Given the description of an element on the screen output the (x, y) to click on. 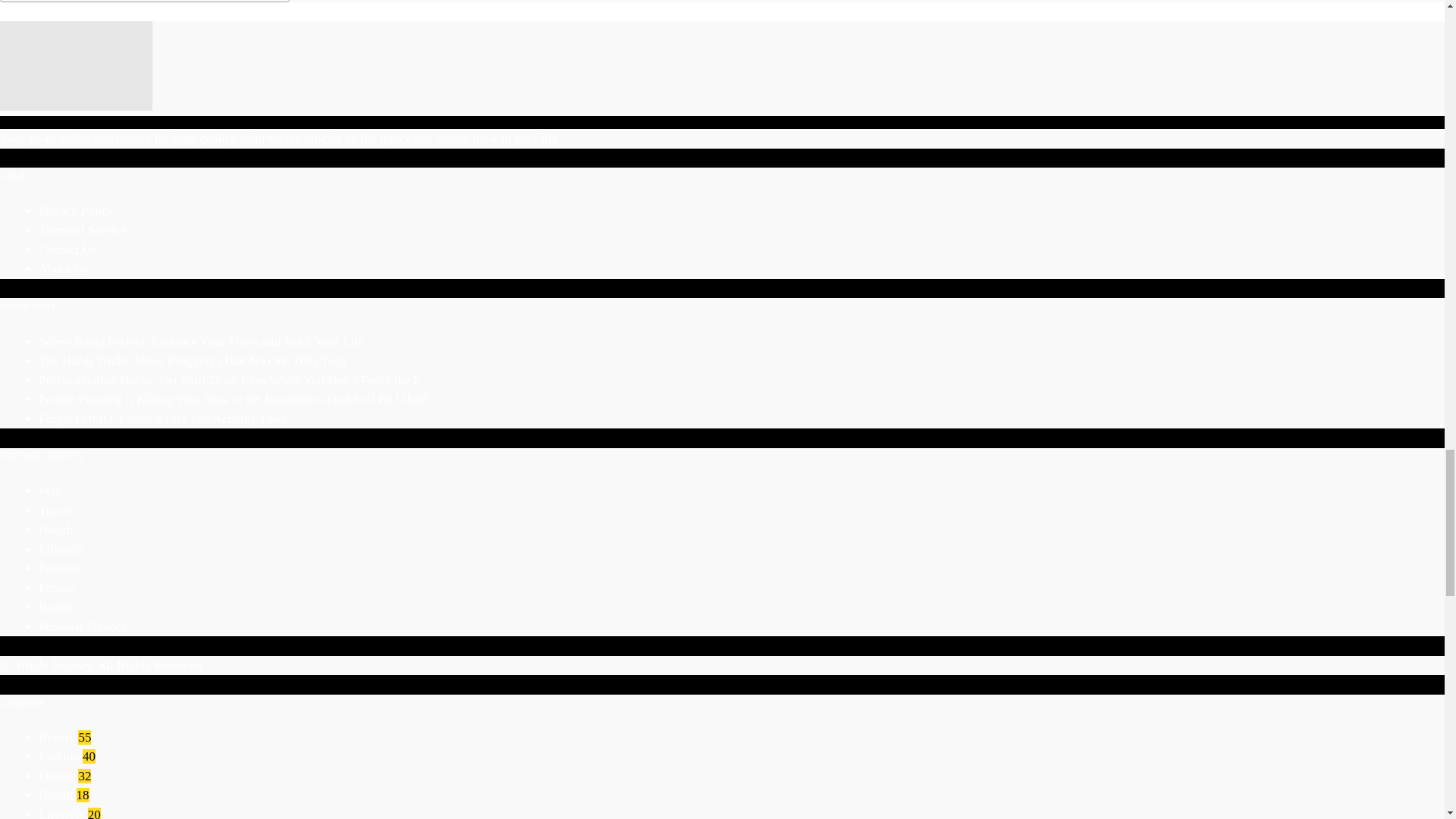
Contact Us (67, 249)
Privacy Policy (77, 210)
Terms of Service (82, 229)
